Given the description of an element on the screen output the (x, y) to click on. 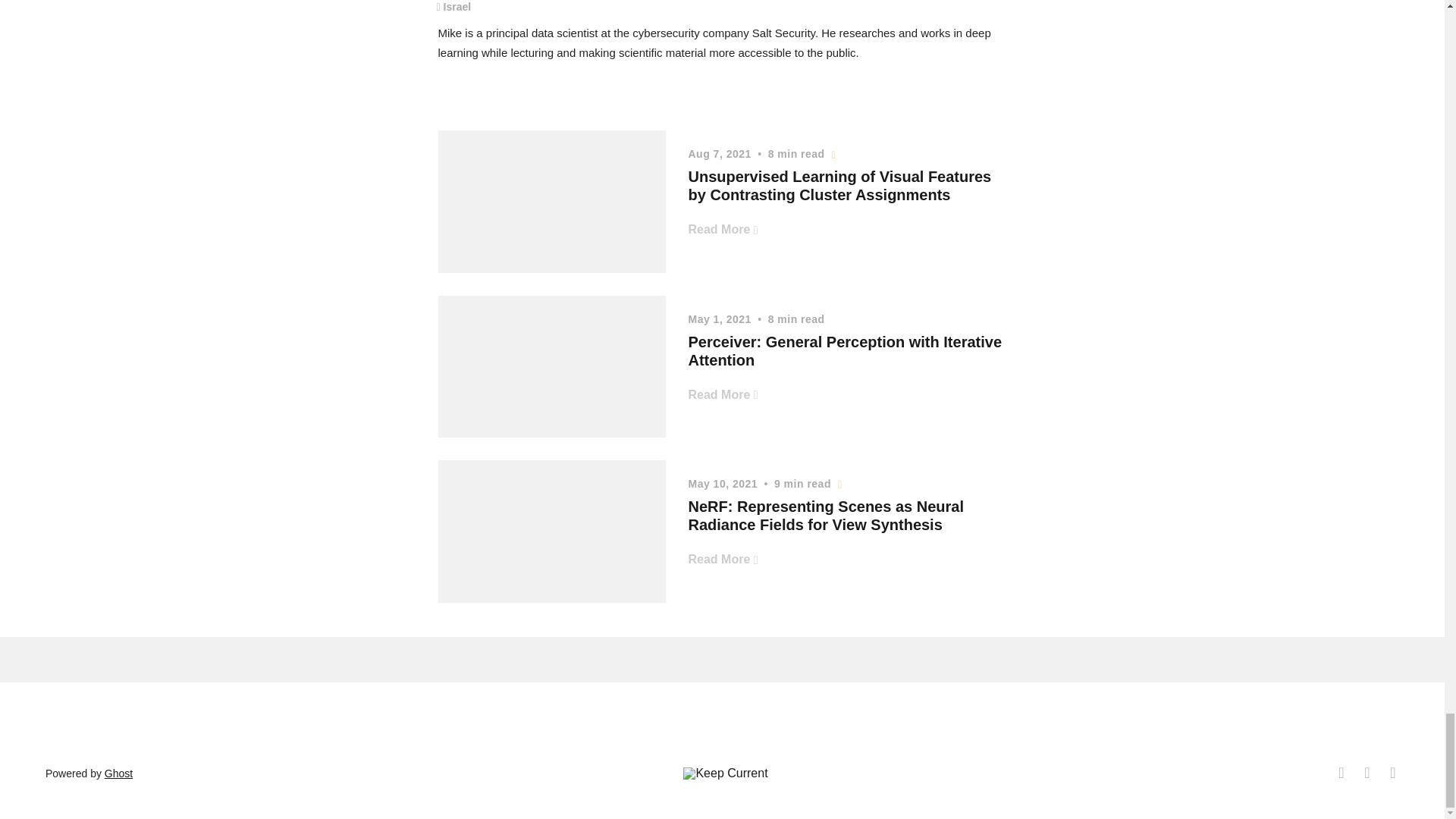
Read More (723, 394)
Perceiver: General Perception with Iterative Attention (845, 350)
Read More (723, 229)
Ghost (118, 773)
Read More (723, 558)
